Given the description of an element on the screen output the (x, y) to click on. 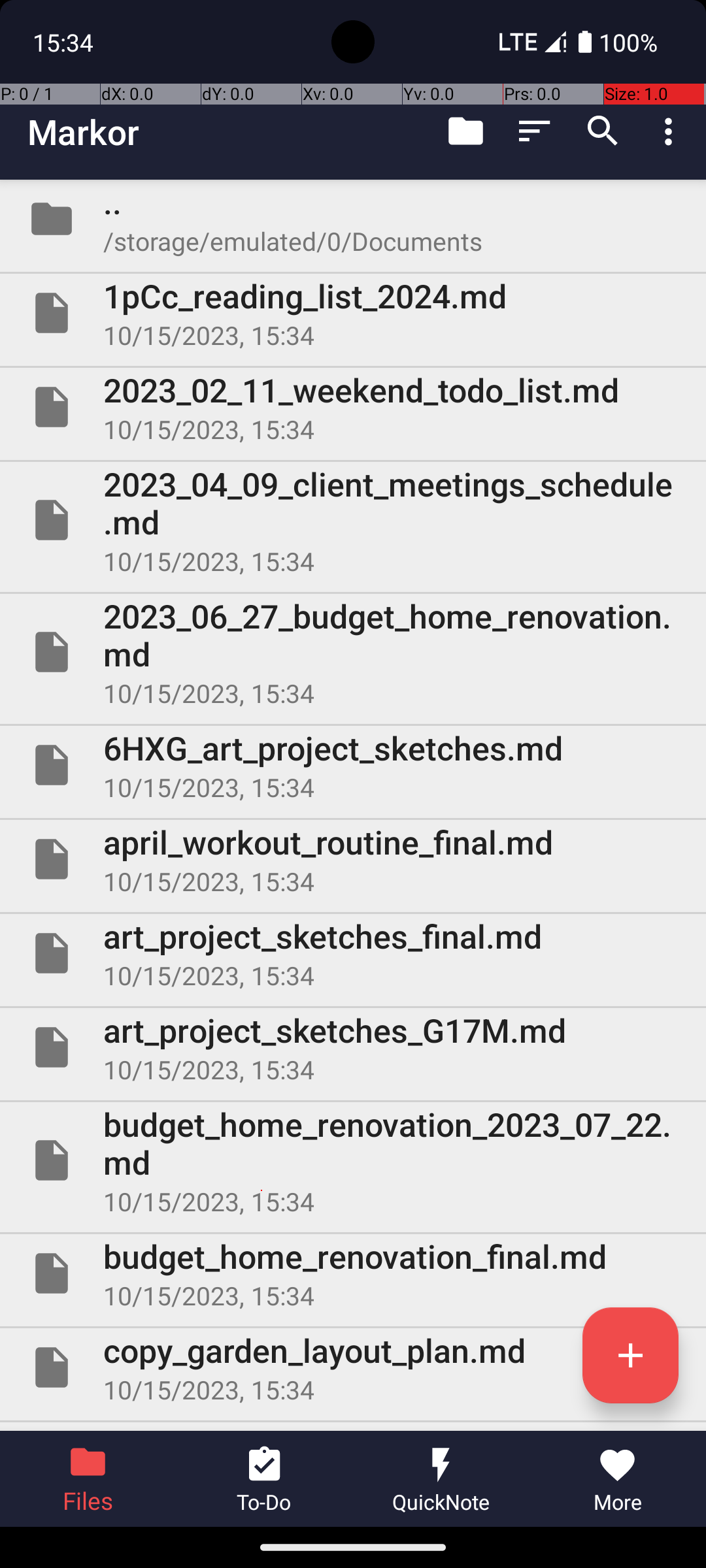
File 1pCc_reading_list_2024.md  Element type: android.widget.LinearLayout (353, 312)
File 2023_02_11_weekend_todo_list.md  Element type: android.widget.LinearLayout (353, 406)
File 2023_04_09_client_meetings_schedule.md  Element type: android.widget.LinearLayout (353, 519)
File 2023_06_27_budget_home_renovation.md  Element type: android.widget.LinearLayout (353, 651)
File 6HXG_art_project_sketches.md  Element type: android.widget.LinearLayout (353, 764)
File april_workout_routine_final.md  Element type: android.widget.LinearLayout (353, 858)
File art_project_sketches_final.md  Element type: android.widget.LinearLayout (353, 953)
File art_project_sketches_G17M.md  Element type: android.widget.LinearLayout (353, 1047)
File budget_home_renovation_2023_07_22.md  Element type: android.widget.LinearLayout (353, 1160)
File budget_home_renovation_final.md  Element type: android.widget.LinearLayout (353, 1273)
File copy_garden_layout_plan.md  Element type: android.widget.LinearLayout (353, 1367)
File edited_recipe_homemade_pizza.md  Element type: android.widget.LinearLayout (353, 1426)
